Given the description of an element on the screen output the (x, y) to click on. 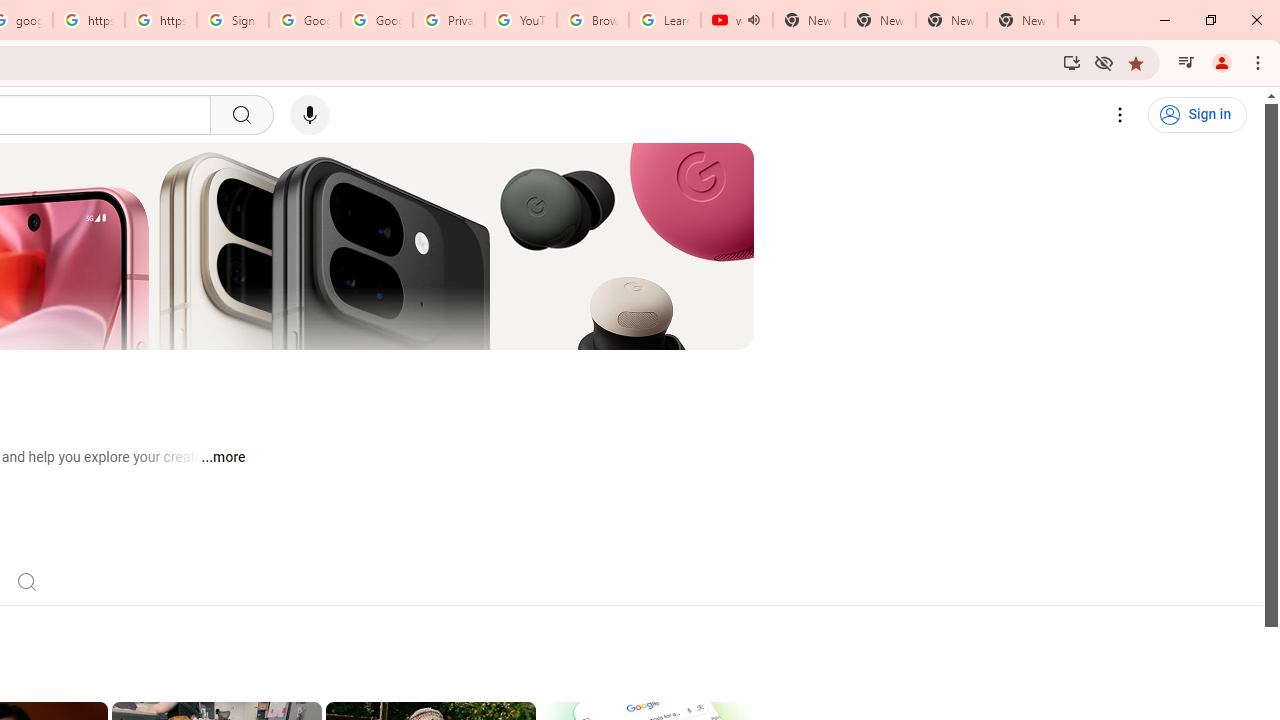
Restore (1210, 20)
https://scholar.google.com/ (161, 20)
New Tab (1075, 20)
https://scholar.google.com/ (88, 20)
Browse Chrome as a guest - Computer - Google Chrome Help (592, 20)
Bookmark this tab (1135, 62)
You (1221, 62)
New Tab (1022, 20)
